Given the description of an element on the screen output the (x, y) to click on. 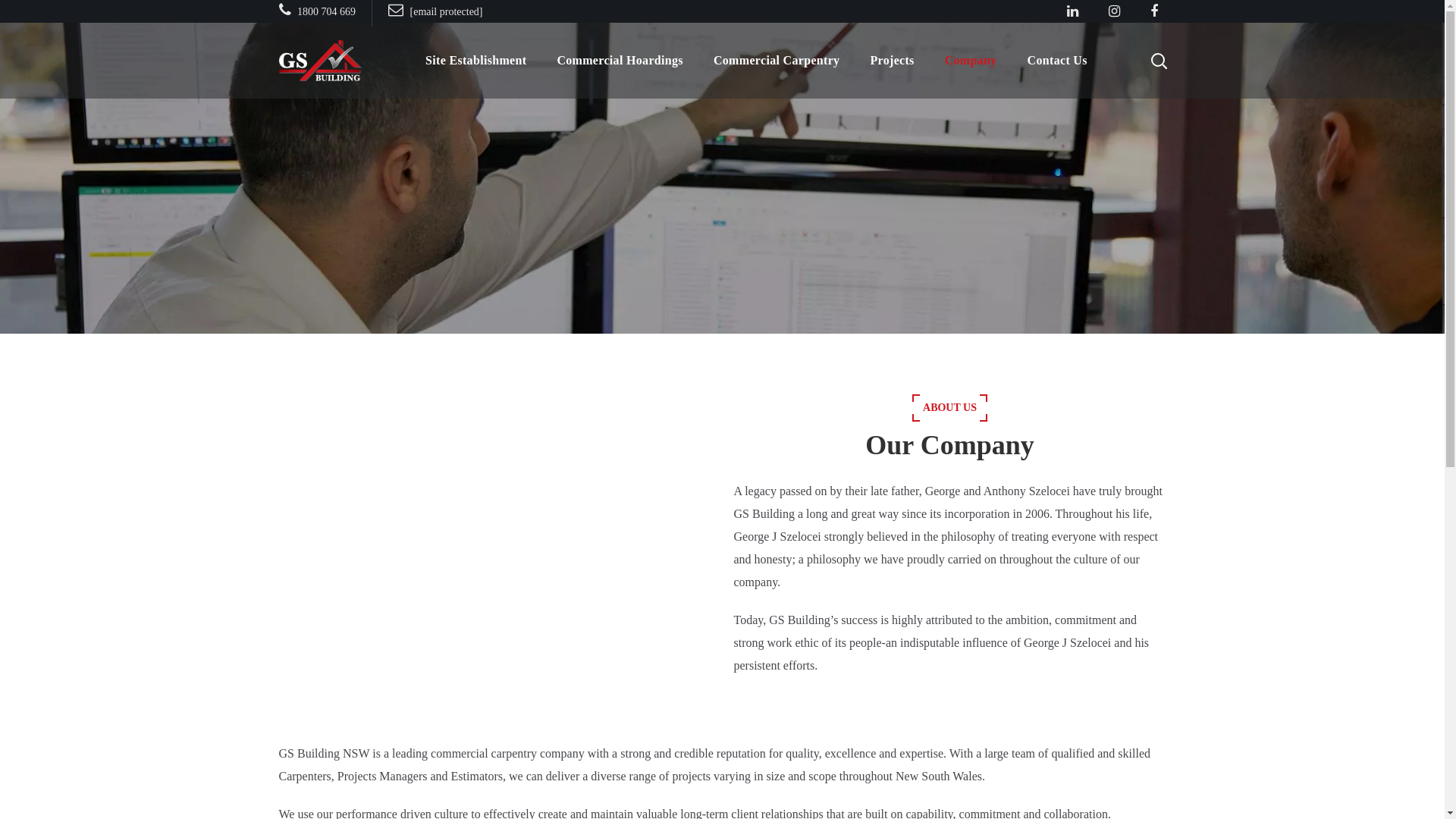
Contact Us Element type: text (1057, 60)
1800 704 669 Element type: text (317, 11)
Projects Element type: text (891, 60)
Search Element type: text (1118, 35)
Search Element type: text (1118, 133)
Commercial Carpentry Element type: text (776, 60)
Commercial Hoardings Element type: text (619, 60)
[email protected] Element type: text (435, 11)
Company Element type: text (970, 60)
Site Establishment Element type: text (475, 60)
